Given the description of an element on the screen output the (x, y) to click on. 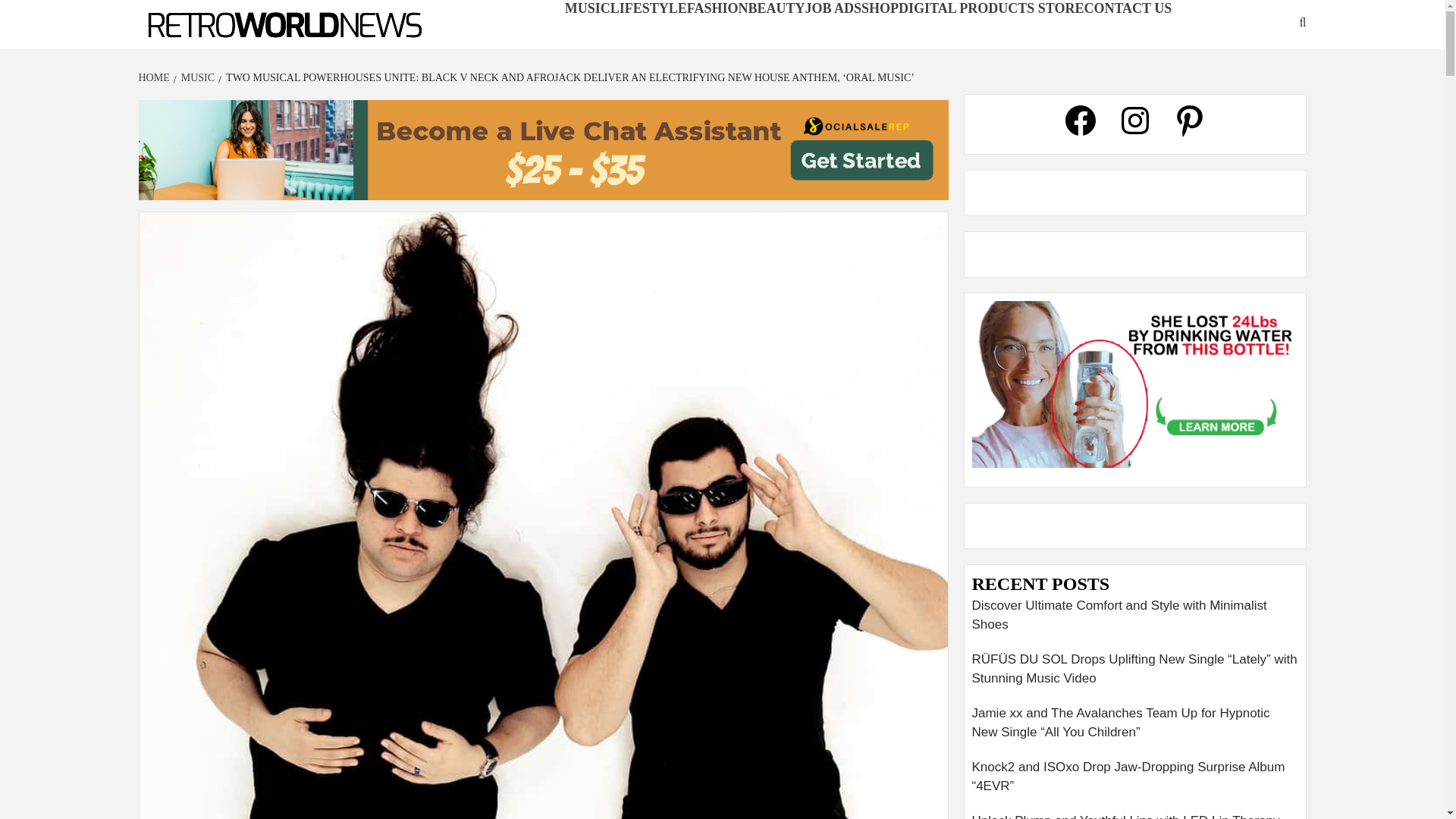
LIFESTYLE (648, 7)
MUSIC (195, 77)
MUSIC (587, 7)
SHOP (879, 7)
DIGITAL PRODUCTS STORE (990, 7)
CONTACT US (1127, 7)
BEAUTY (776, 7)
JOB ADS (833, 7)
HOME (155, 77)
FASHION (717, 7)
RETROWORLDNEWS (223, 48)
